Given the description of an element on the screen output the (x, y) to click on. 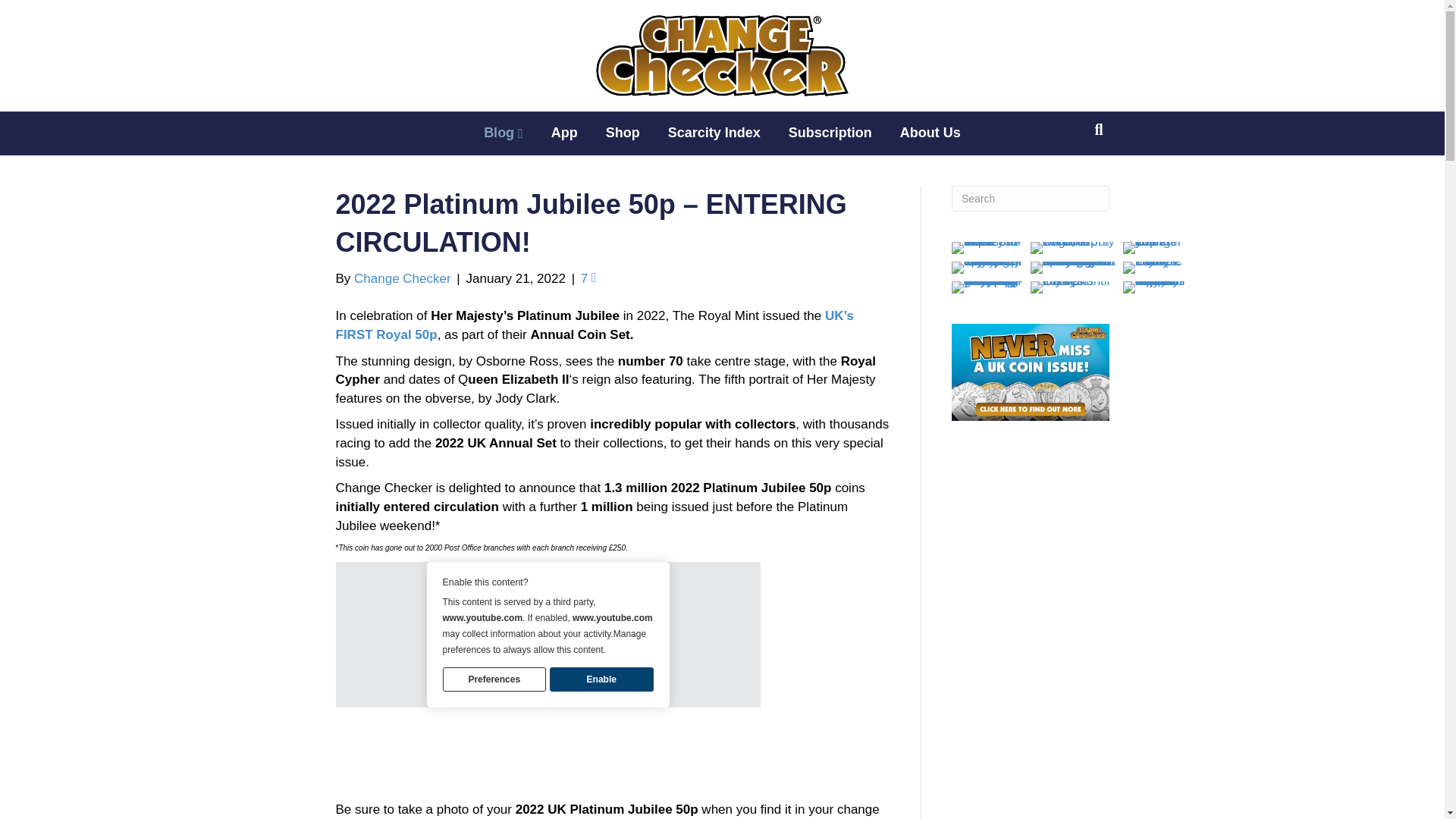
Scarcity Index (714, 132)
Shop (623, 132)
App (563, 132)
7 (587, 278)
Subscription (829, 132)
Change Checker (402, 278)
Type and press Enter to search. (1030, 198)
About Us (930, 132)
Blog (503, 133)
